Given the description of an element on the screen output the (x, y) to click on. 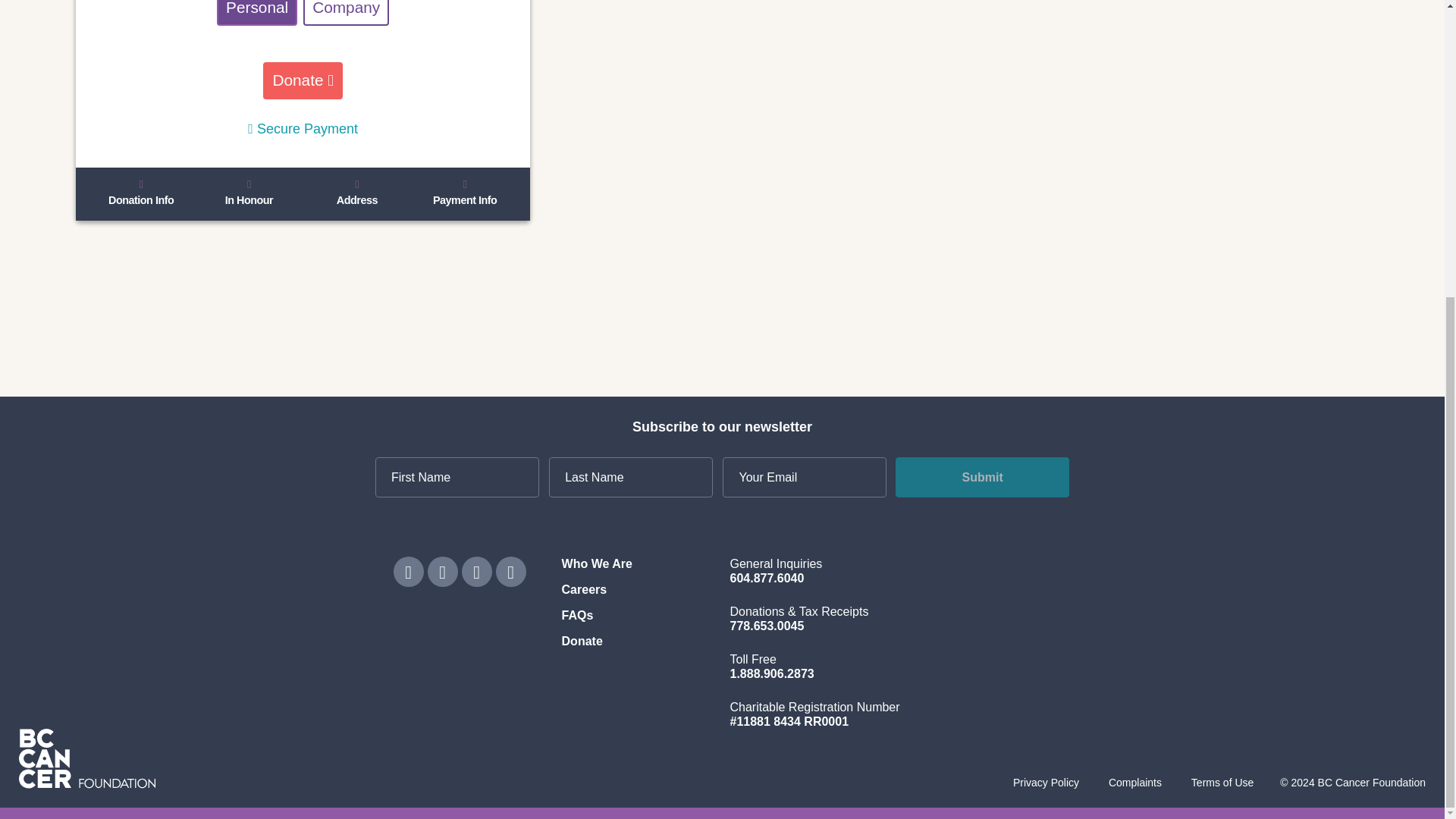
Submit (981, 477)
